Given the description of an element on the screen output the (x, y) to click on. 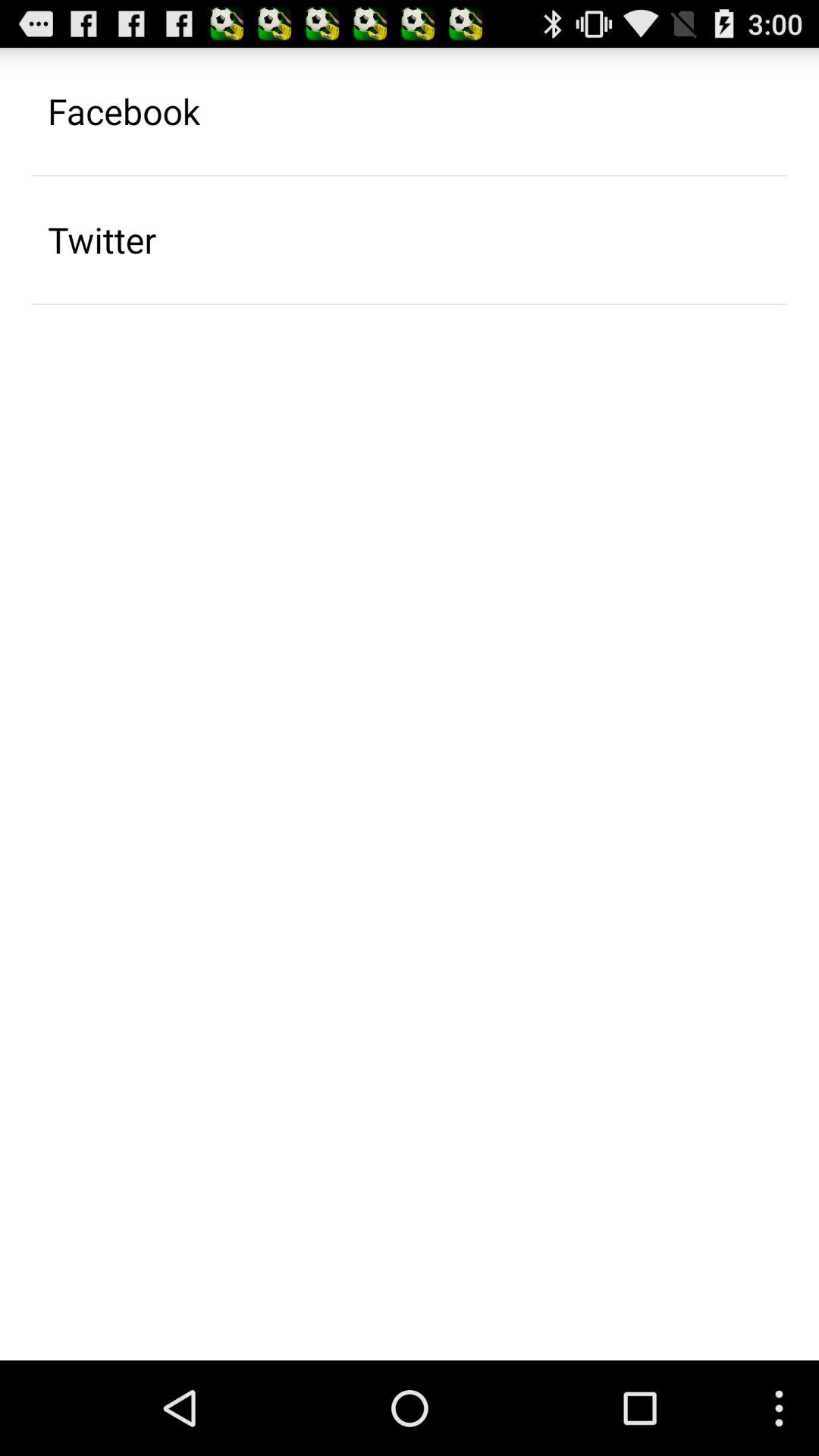
launch the icon below the facebook (101, 239)
